Given the description of an element on the screen output the (x, y) to click on. 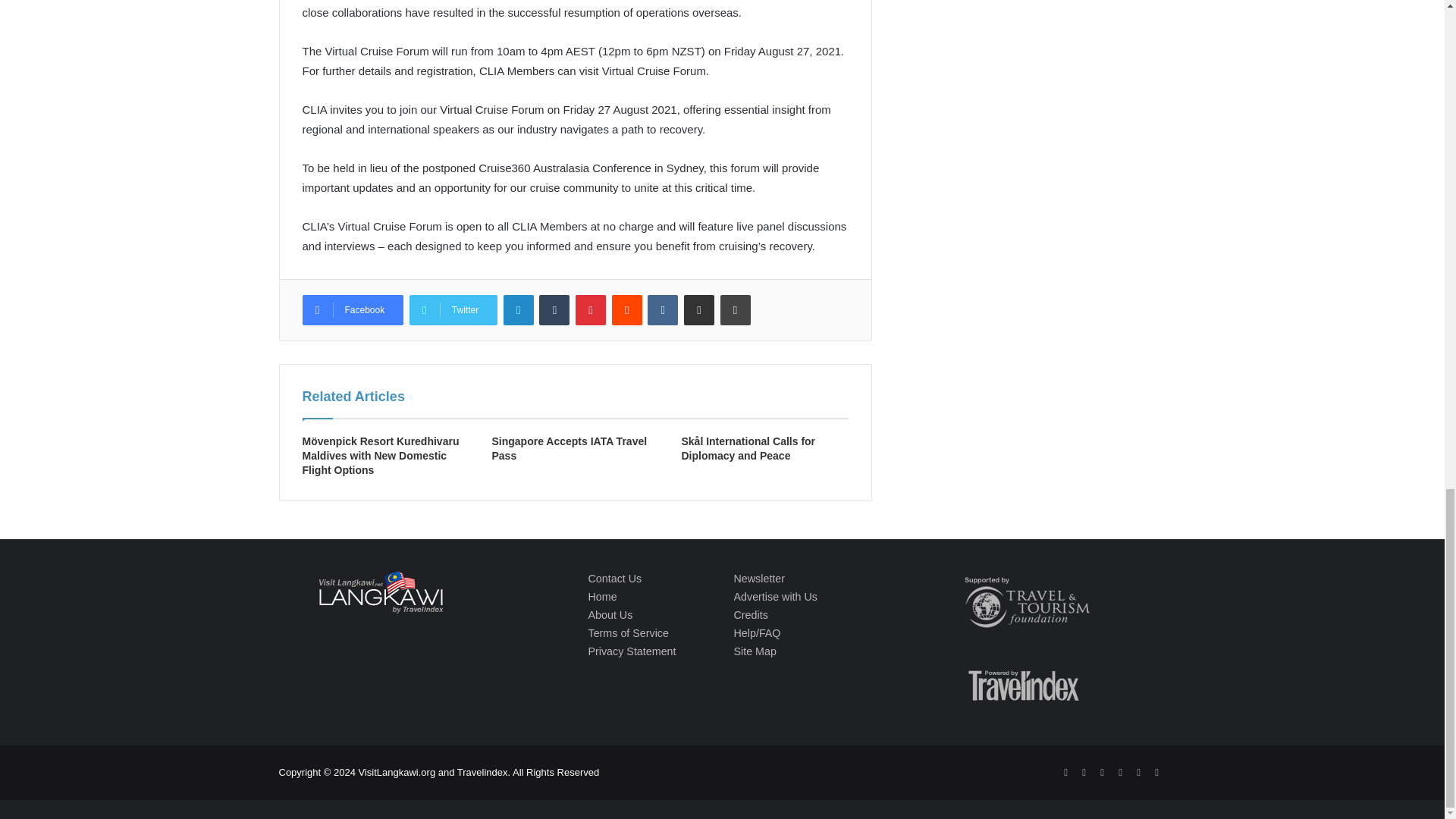
Pinterest (590, 309)
Facebook (352, 309)
Reddit (626, 309)
LinkedIn (518, 309)
Twitter (453, 309)
Share via Email (699, 309)
Print (735, 309)
VKontakte (662, 309)
Tumblr (553, 309)
